Given the description of an element on the screen output the (x, y) to click on. 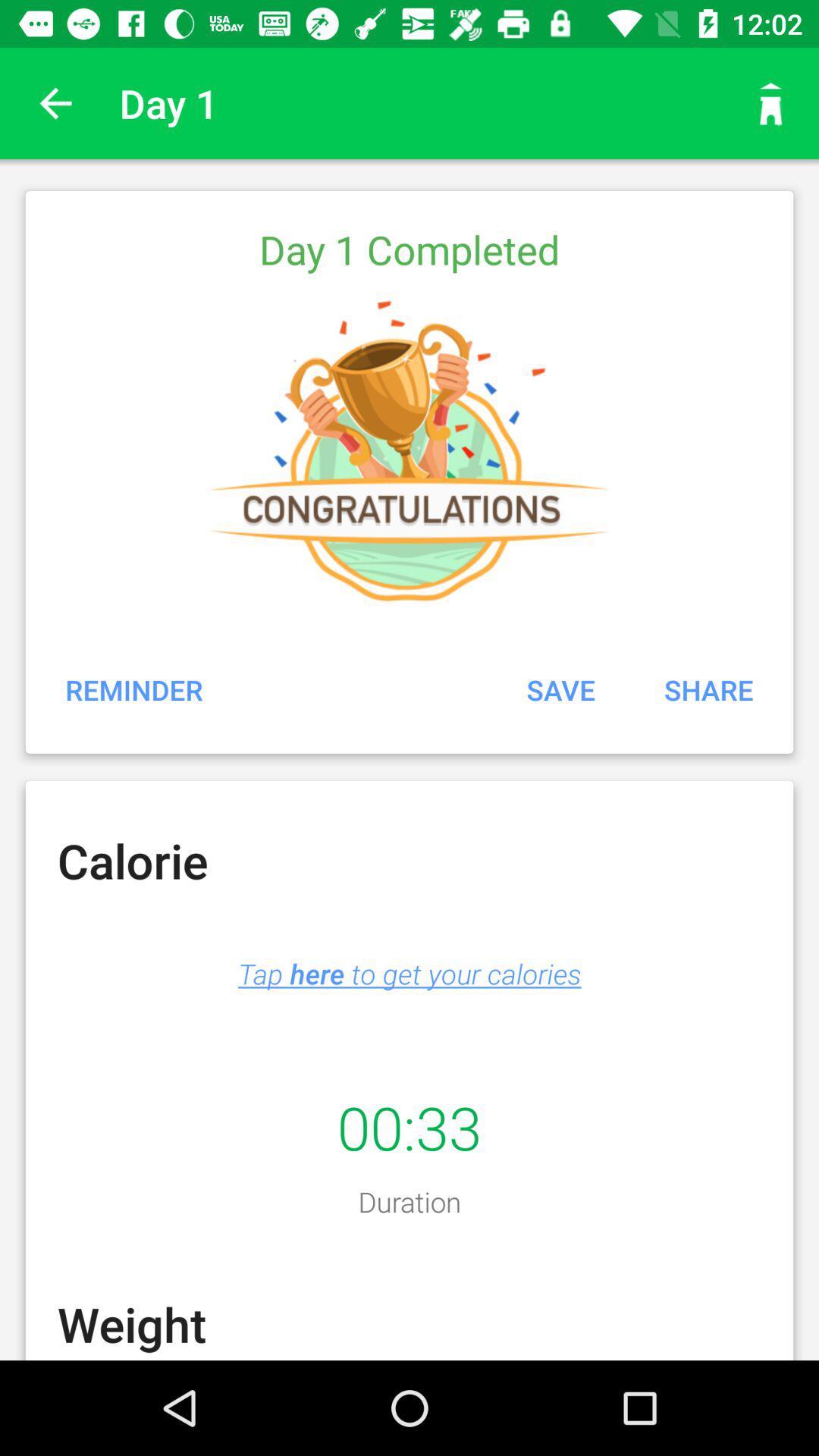
select icon next to save icon (708, 689)
